Given the description of an element on the screen output the (x, y) to click on. 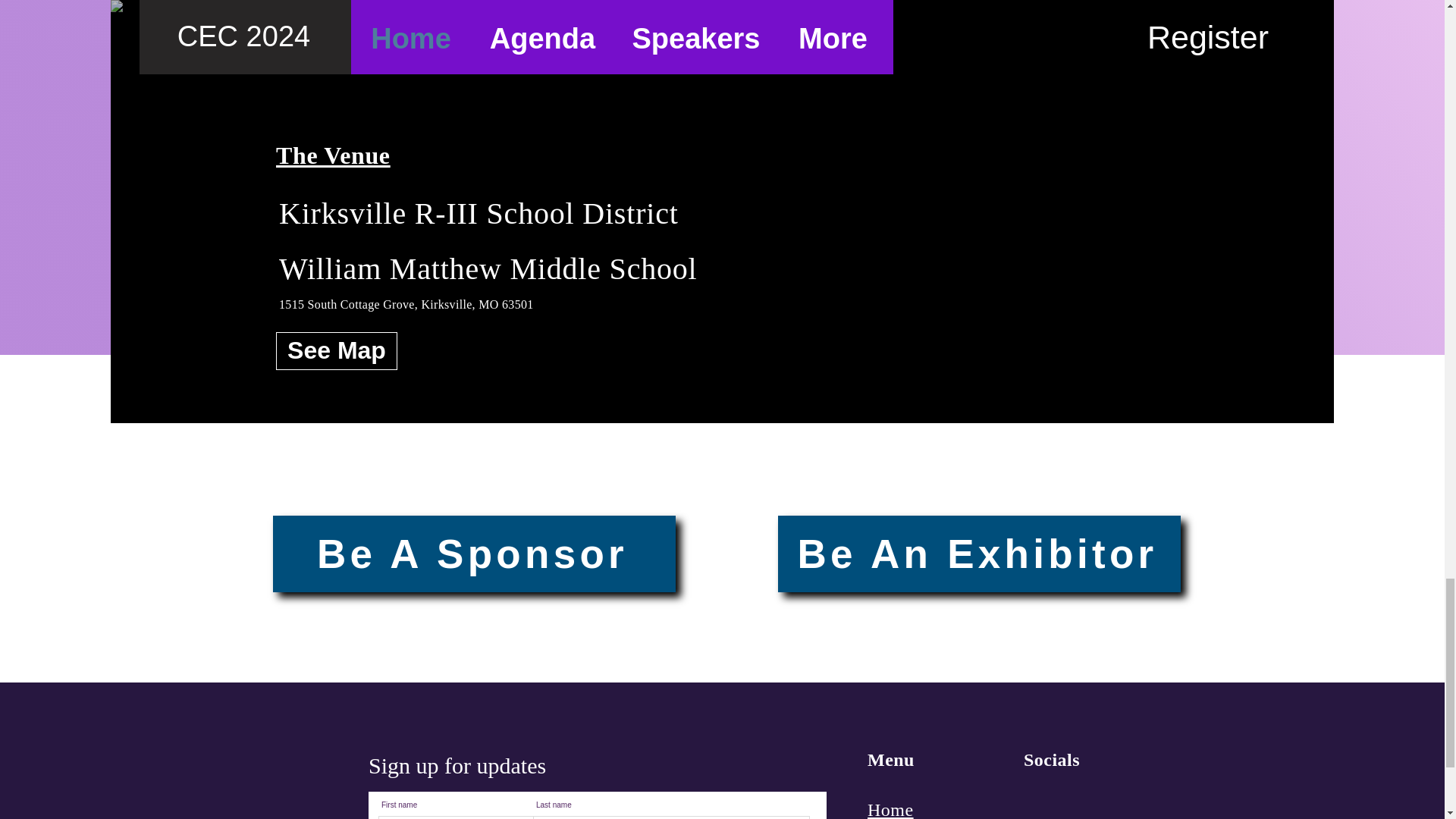
Home (890, 809)
Be An Exhibitor (978, 553)
Be A Sponsor (474, 553)
See Map (336, 351)
